Given the description of an element on the screen output the (x, y) to click on. 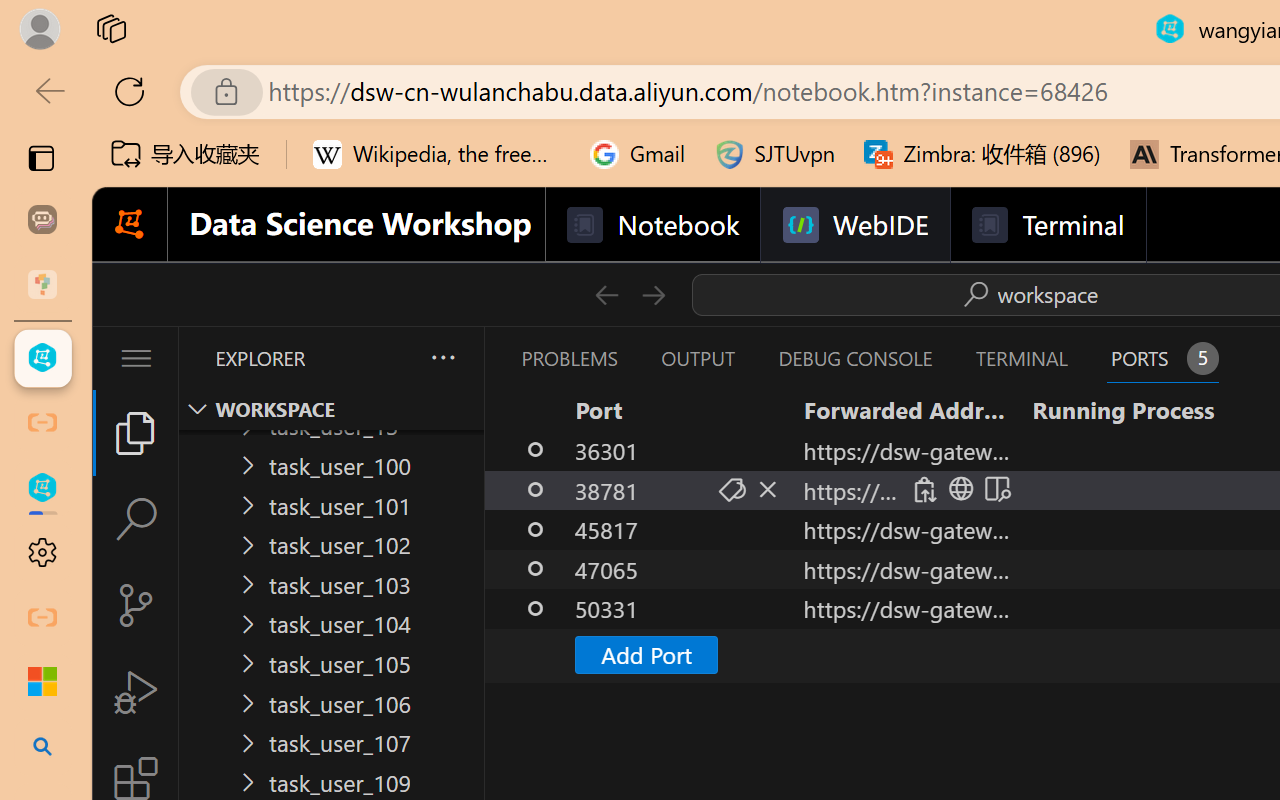
Add Port (645, 654)
Explorer (Ctrl+Shift+E) (135, 432)
Problems (Ctrl+Shift+M) (567, 358)
wangyian_dsw - DSW (42, 357)
wangyian_webcrawler - DSW (42, 487)
Source Control (Ctrl+Shift+G) (135, 604)
Output (Ctrl+Shift+U) (696, 358)
Ports - 5 forwarded ports Ports - 5 forwarded ports (1162, 358)
Gmail (637, 154)
